Given the description of an element on the screen output the (x, y) to click on. 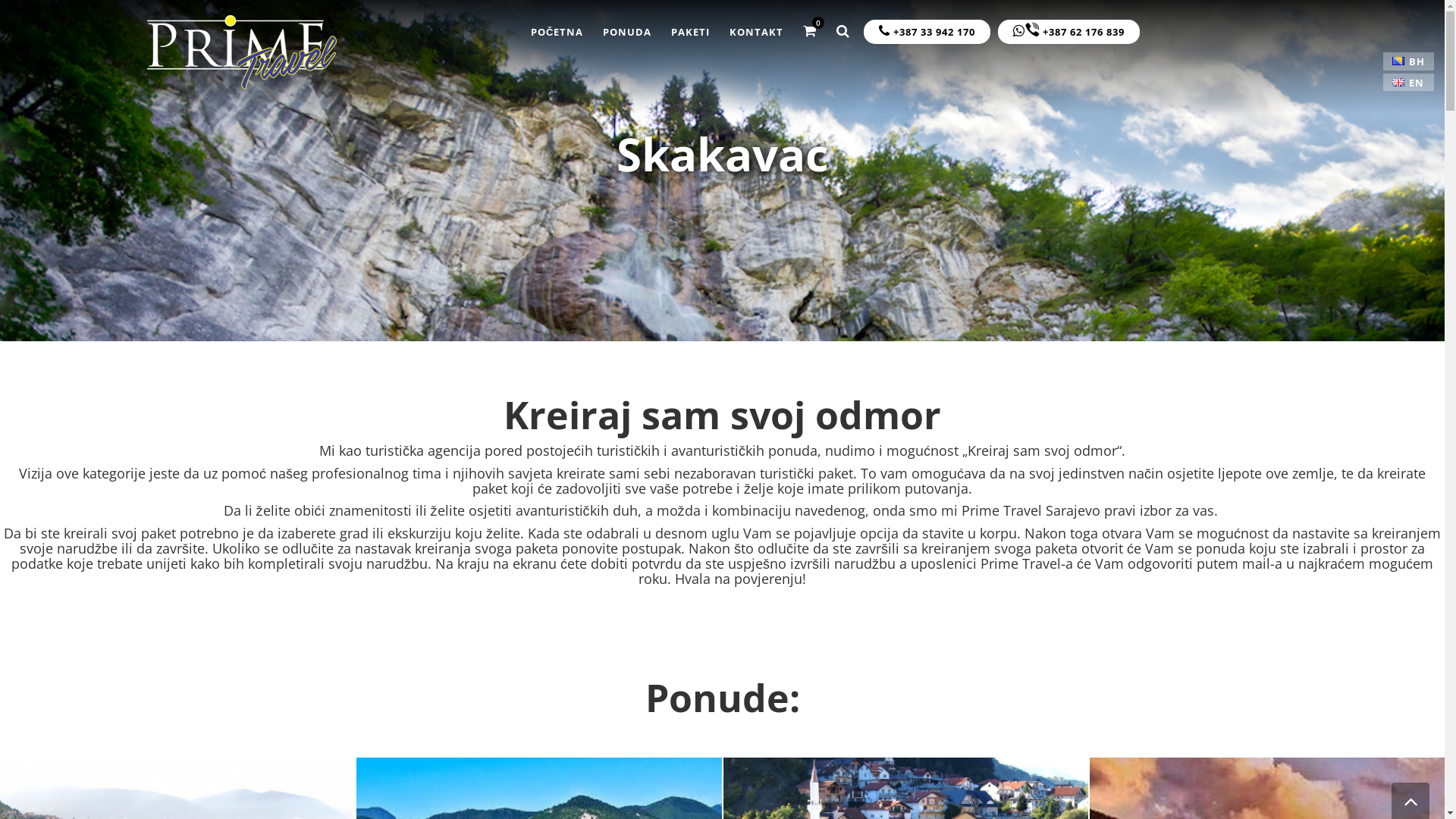
+387 62 176 839 Element type: text (1068, 31)
PAKETI Element type: text (690, 31)
KONTAKT Element type: text (756, 31)
PONUDA Element type: text (626, 31)
EN Element type: text (1408, 82)
+387 33 942 170 Element type: text (926, 31)
BH Element type: text (1408, 61)
